Given the description of an element on the screen output the (x, y) to click on. 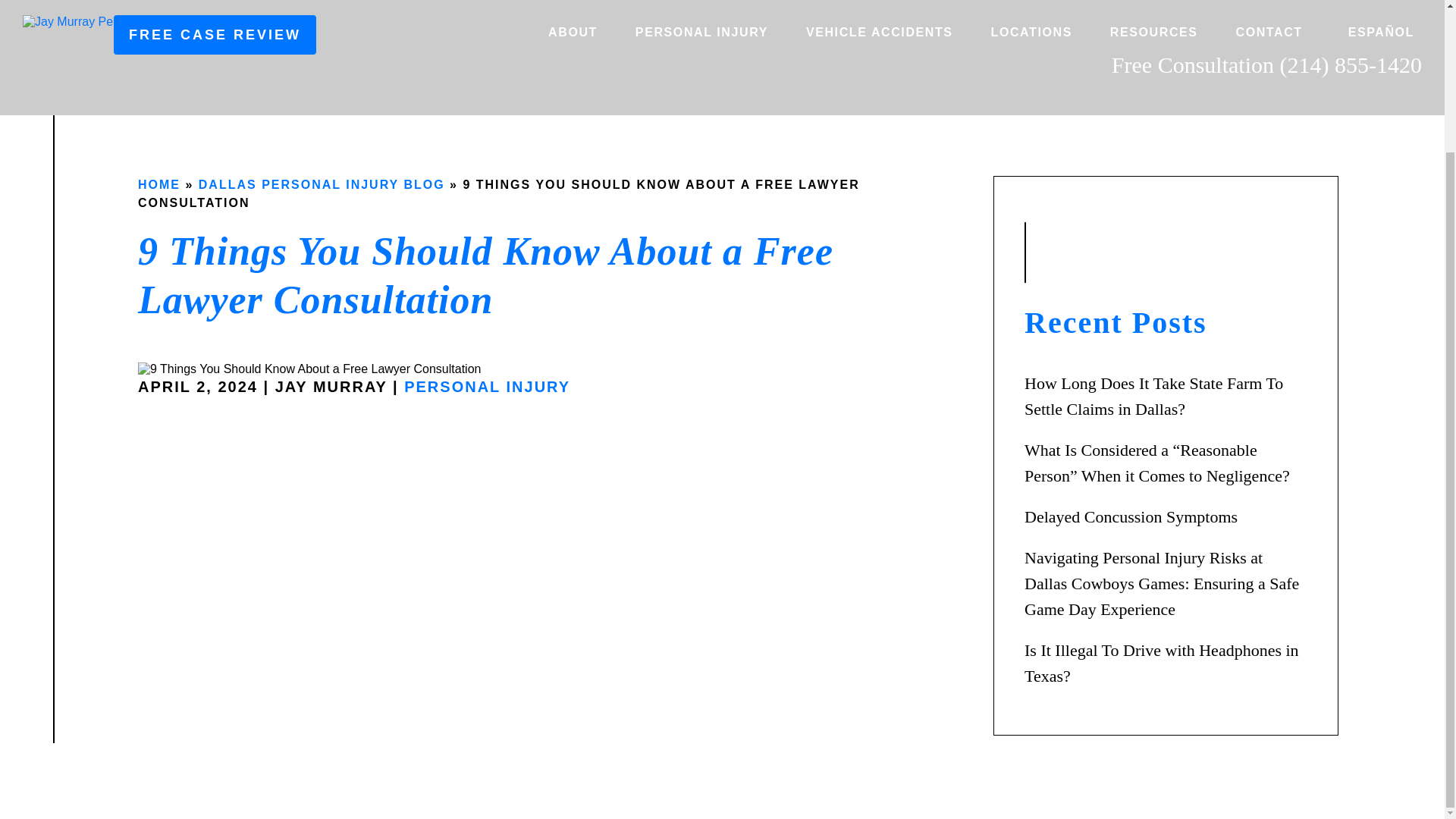
PERSONAL INJURY (487, 386)
FREE CASE REVIEW (214, 34)
DALLAS PERSONAL INJURY BLOG (321, 184)
HOME (159, 184)
